Given the description of an element on the screen output the (x, y) to click on. 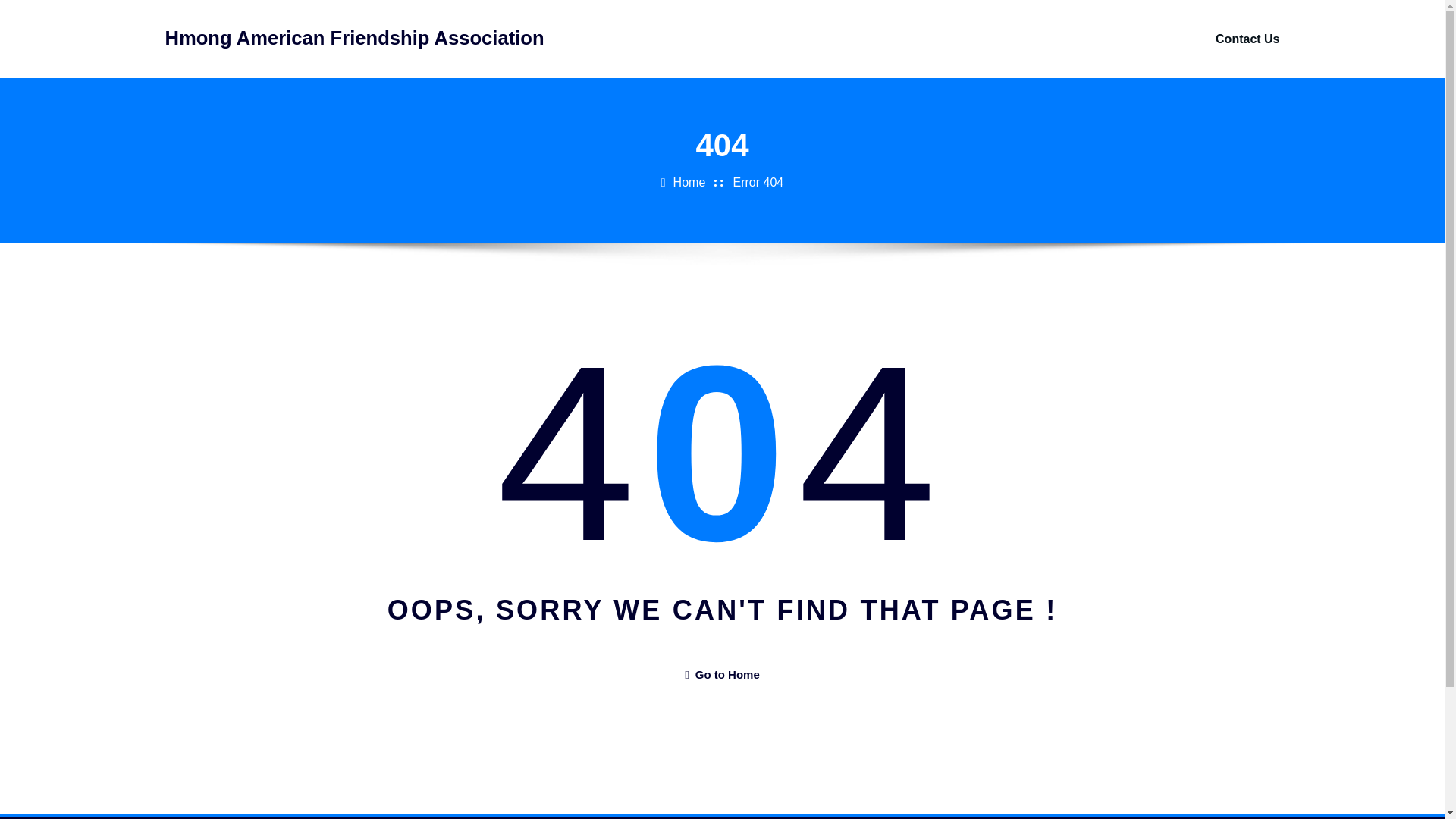
Contact Us (1247, 38)
Hmong American Friendship Association (354, 37)
Go to Home (721, 674)
Error 404 (758, 182)
Home (689, 182)
